Given the description of an element on the screen output the (x, y) to click on. 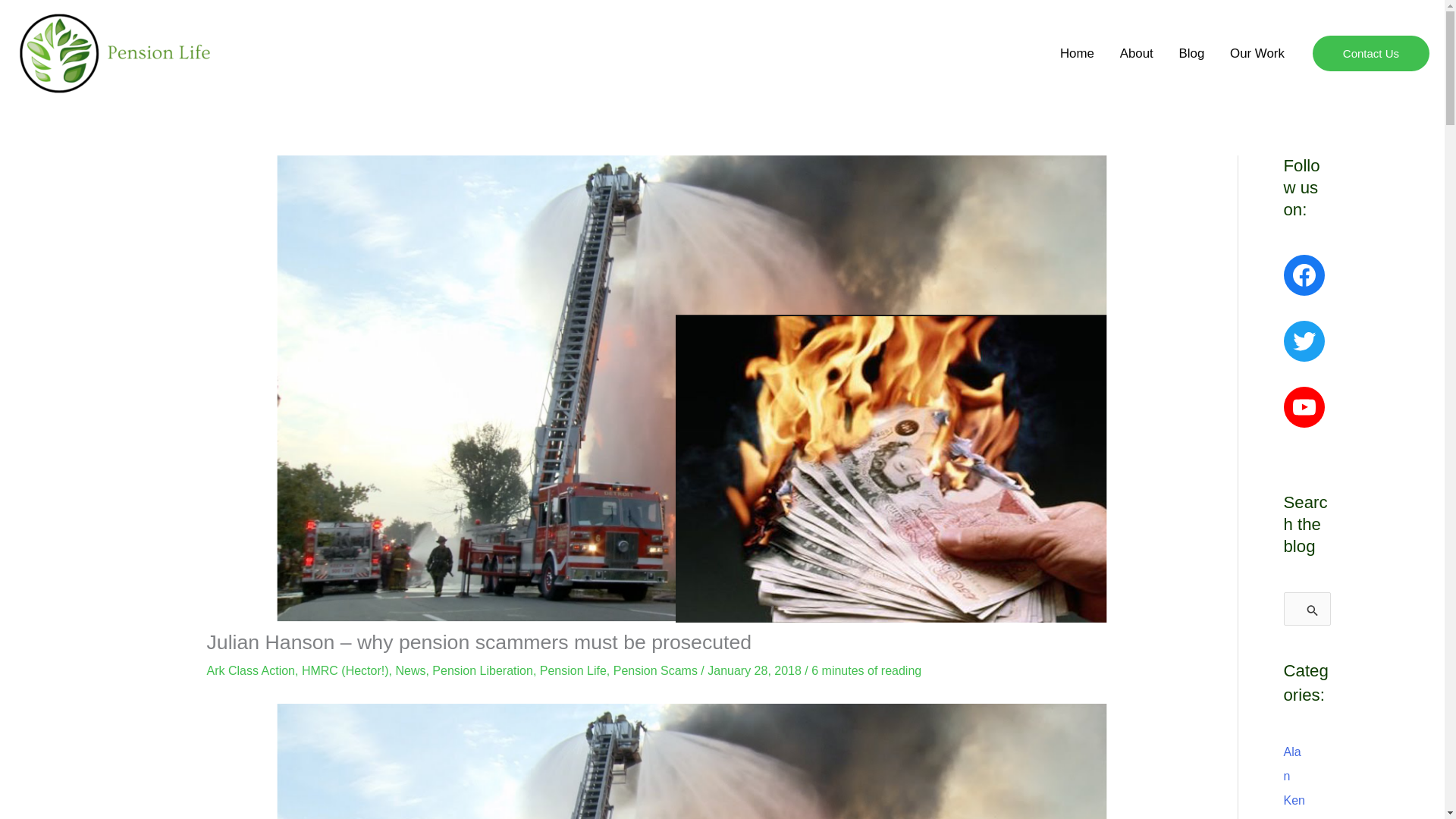
Pension Scams (654, 670)
News (409, 670)
Pension Liberation (482, 670)
Ark Class Action (250, 670)
Our Work (1257, 52)
Contact Us (1371, 54)
Pension Life (573, 670)
